Given the description of an element on the screen output the (x, y) to click on. 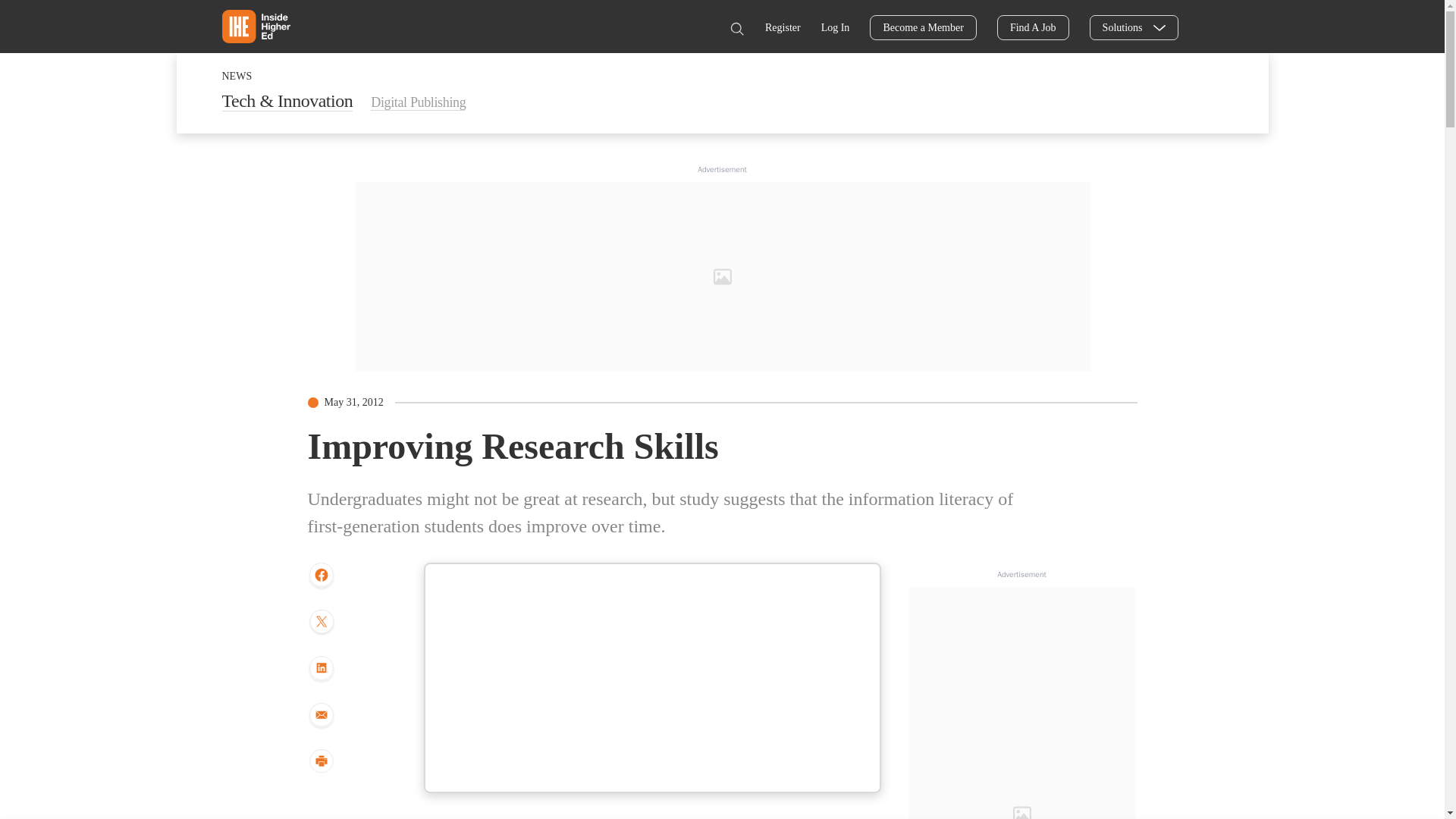
Become a Member (922, 27)
Find A Job (1032, 27)
Search (736, 28)
share by email (320, 715)
share to twitter (320, 623)
Home (255, 26)
share to facebook (320, 575)
share to Linkedin (320, 669)
